Given the description of an element on the screen output the (x, y) to click on. 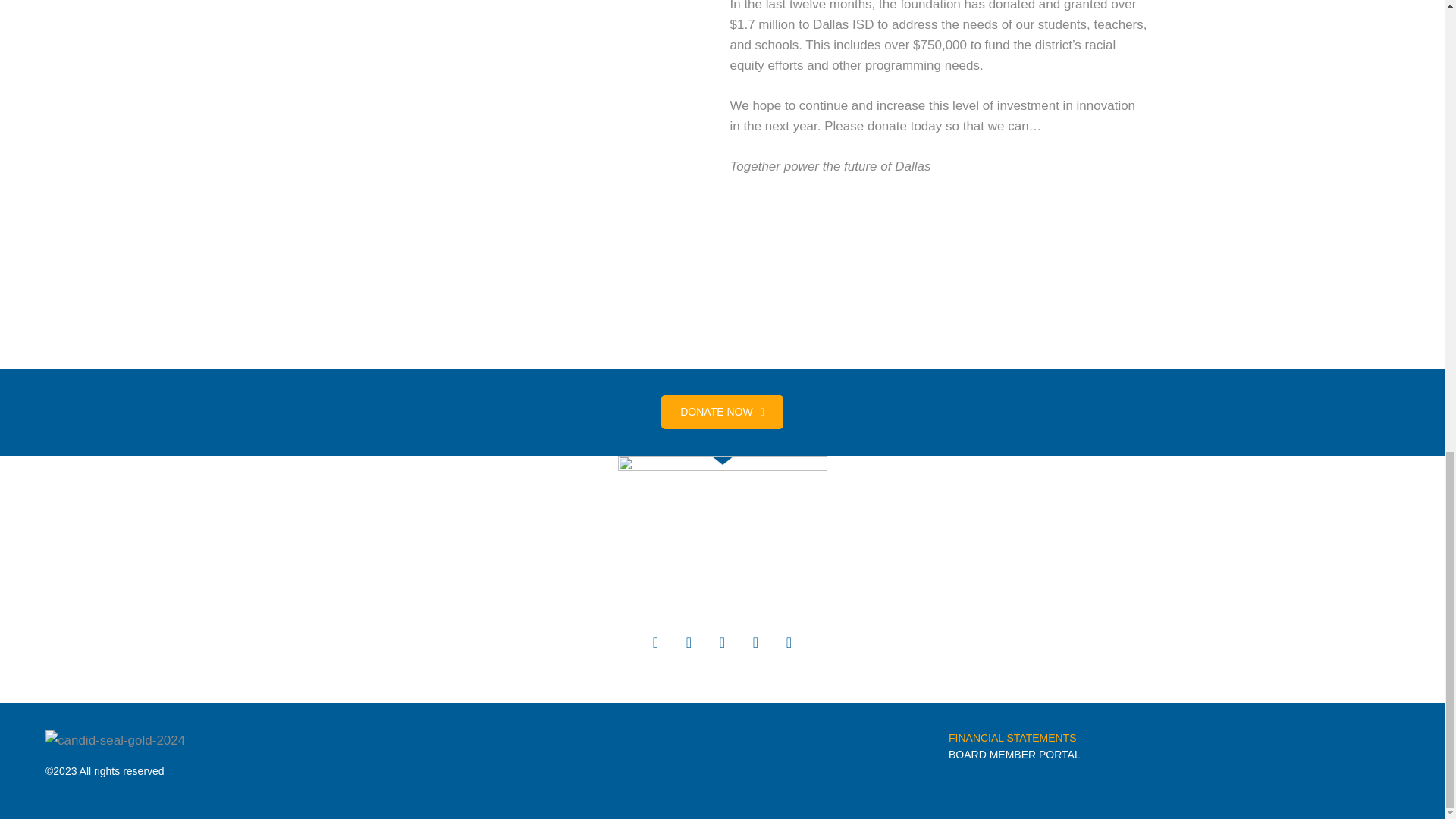
candid-seal-gold-2024 (114, 740)
